Given the description of an element on the screen output the (x, y) to click on. 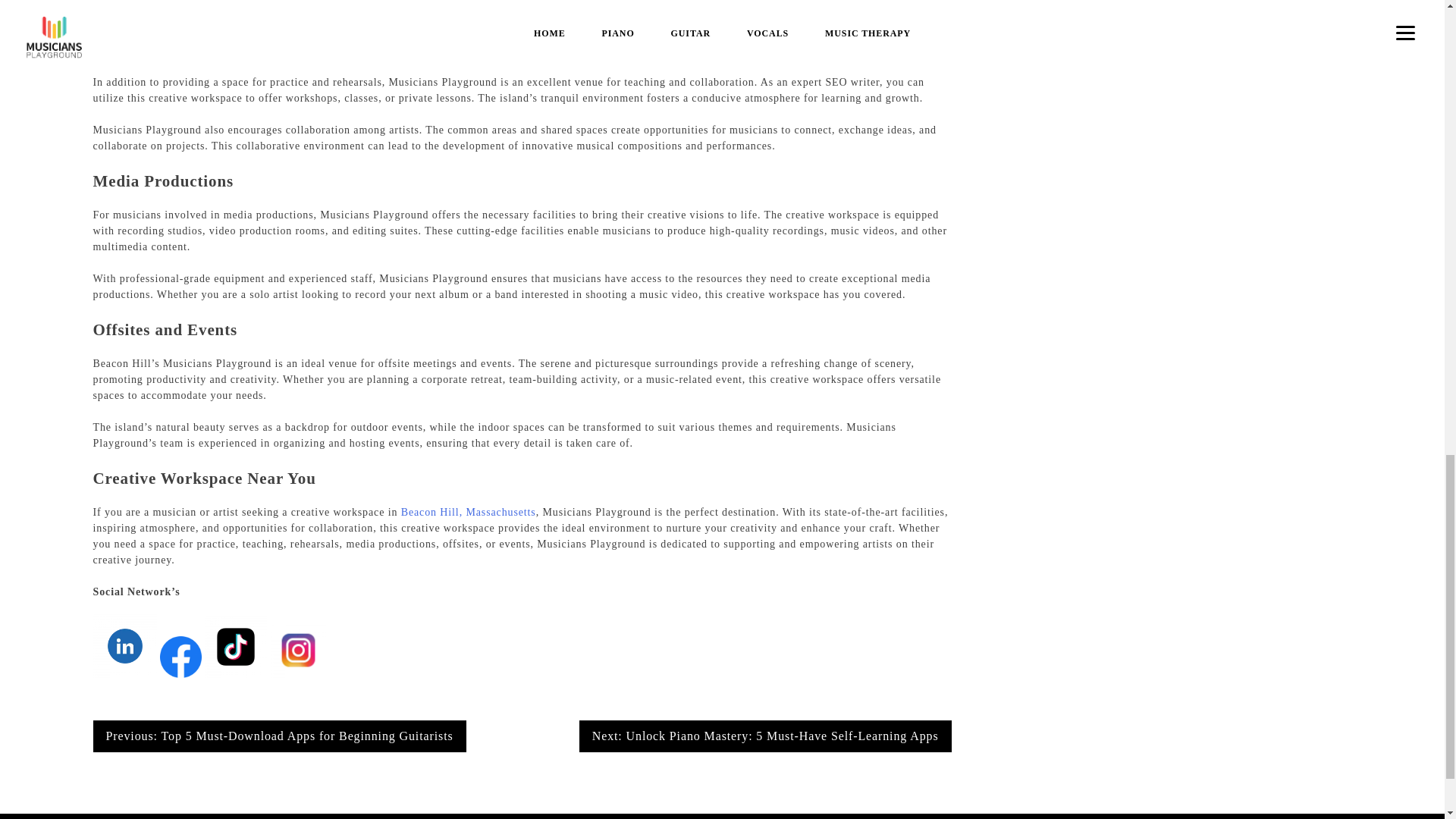
Previous: Top 5 Must-Download Apps for Beginning Guitarists (279, 736)
Next: Unlock Piano Mastery: 5 Must-Have Self-Learning Apps (765, 736)
Beacon Hill, Massachusetts (468, 511)
